Given the description of an element on the screen output the (x, y) to click on. 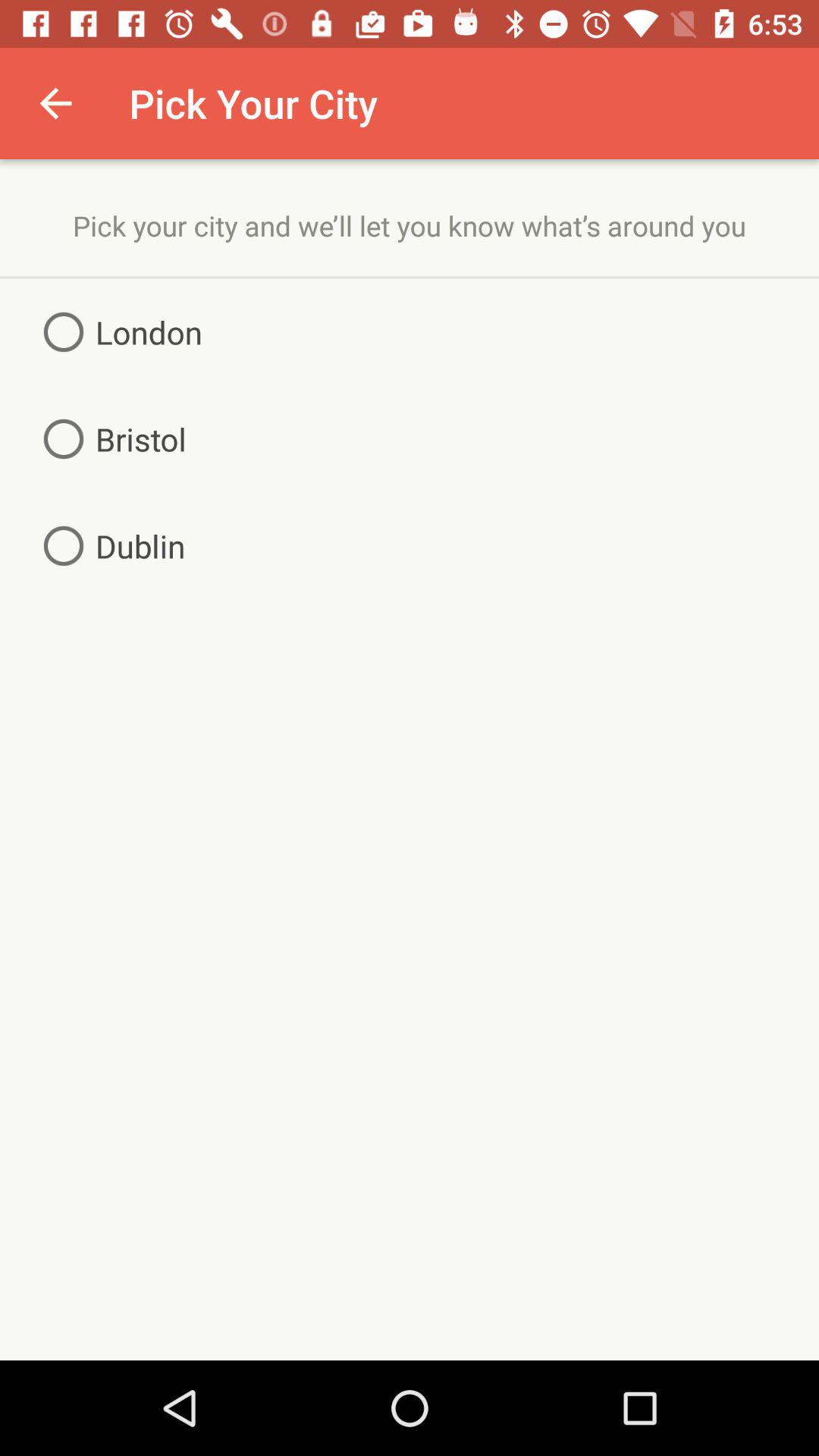
scroll until the bristol (108, 438)
